Given the description of an element on the screen output the (x, y) to click on. 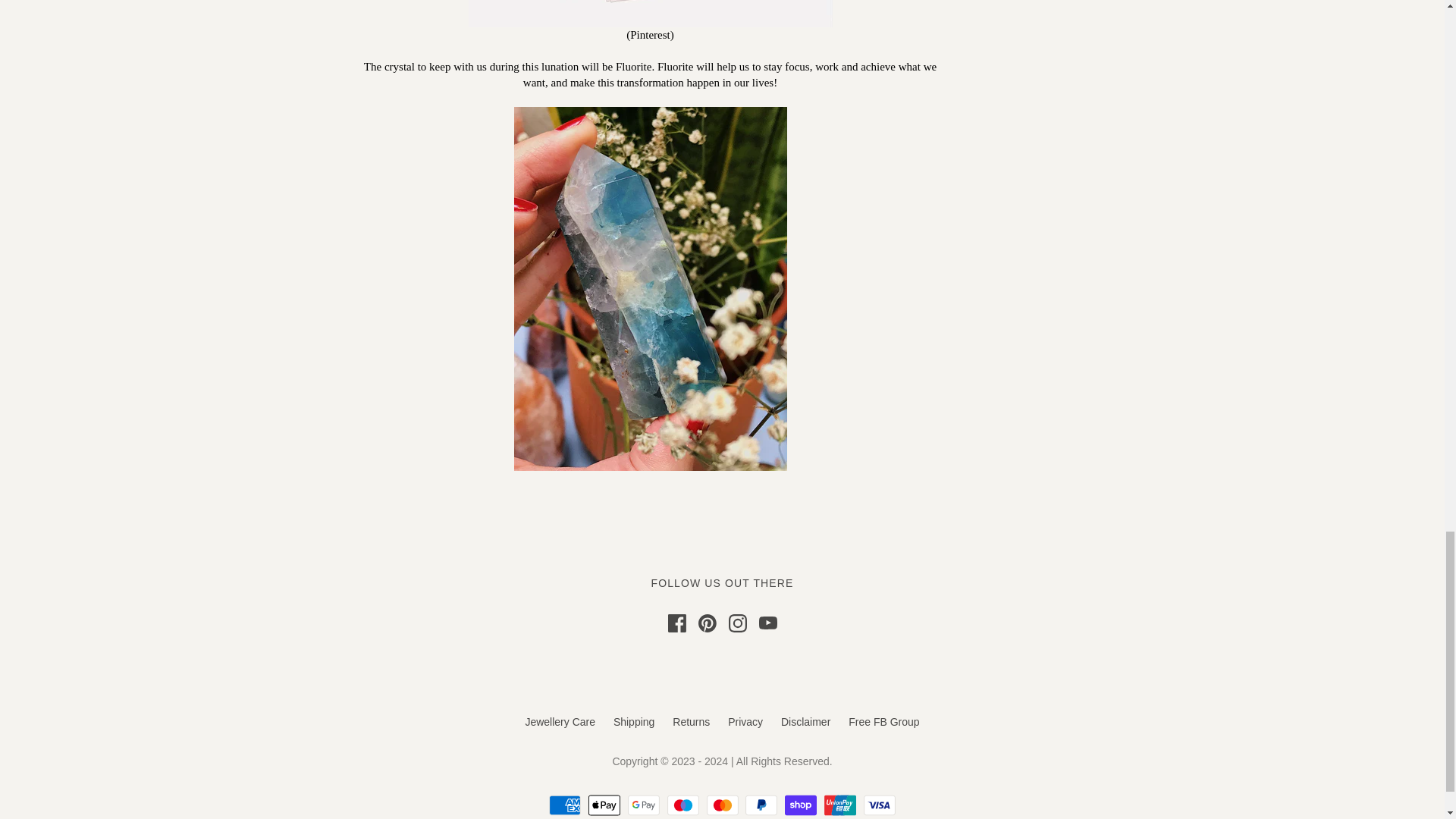
Pinterest Icon (706, 623)
American Express (564, 805)
Apple Pay (604, 805)
PayPal (761, 805)
Google Pay (643, 805)
Instagram Icon (736, 623)
Maestro (682, 805)
Shop Pay (800, 805)
Youtube Icon (767, 623)
Facebook Icon (675, 623)
Mastercard (722, 805)
